Given the description of an element on the screen output the (x, y) to click on. 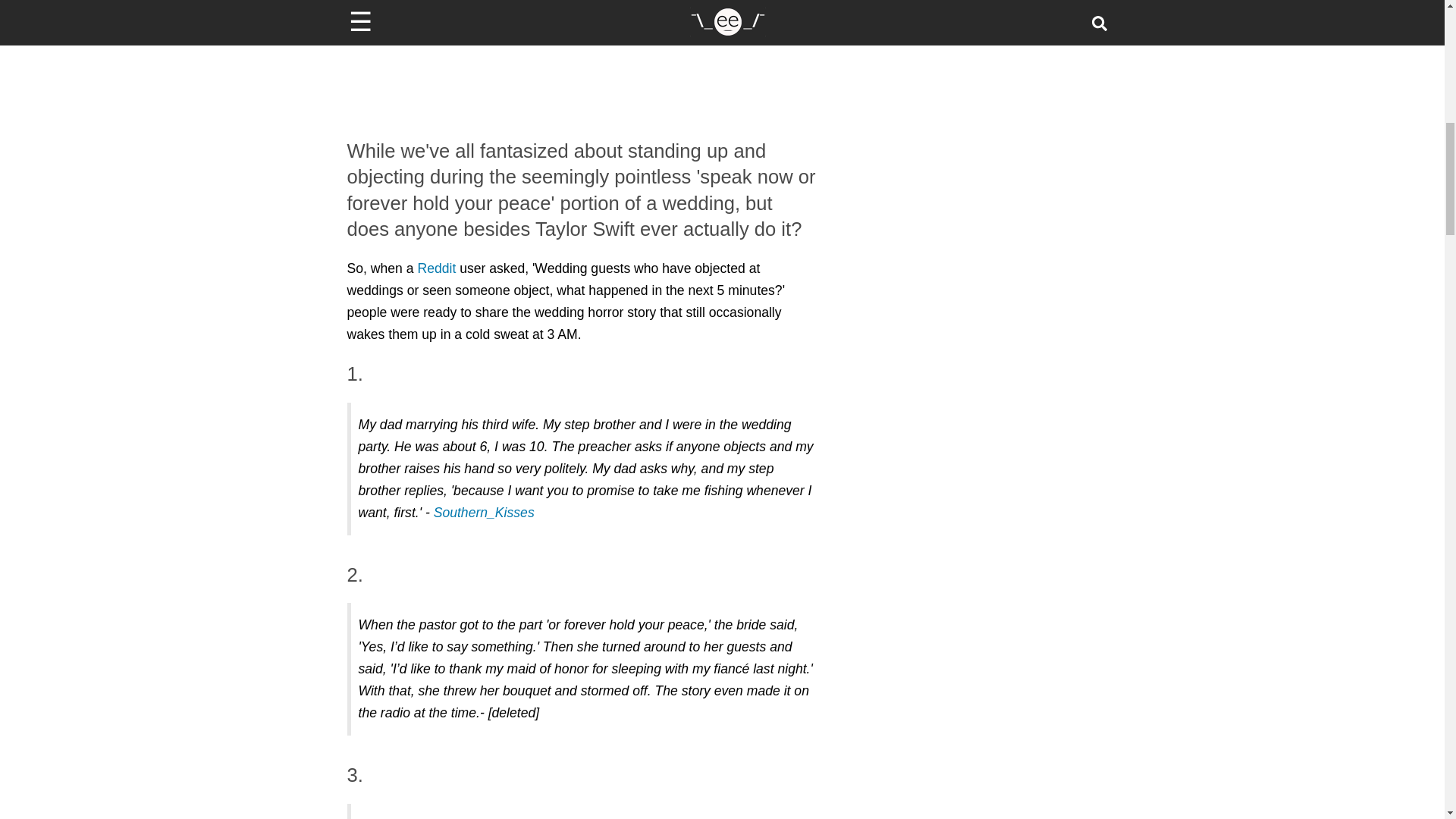
Reddit (435, 268)
